Given the description of an element on the screen output the (x, y) to click on. 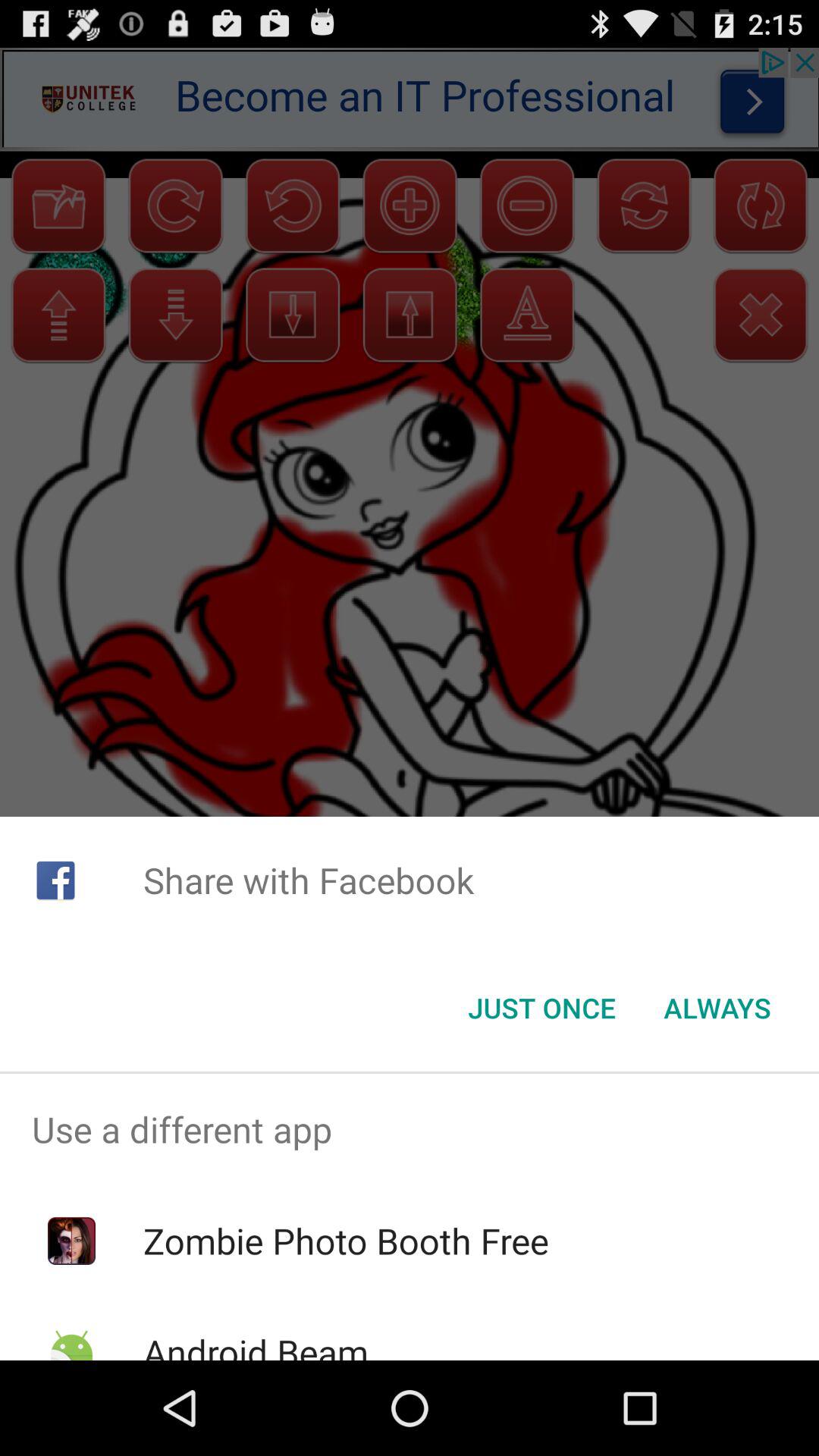
click the icon above zombie photo booth (409, 1129)
